Given the description of an element on the screen output the (x, y) to click on. 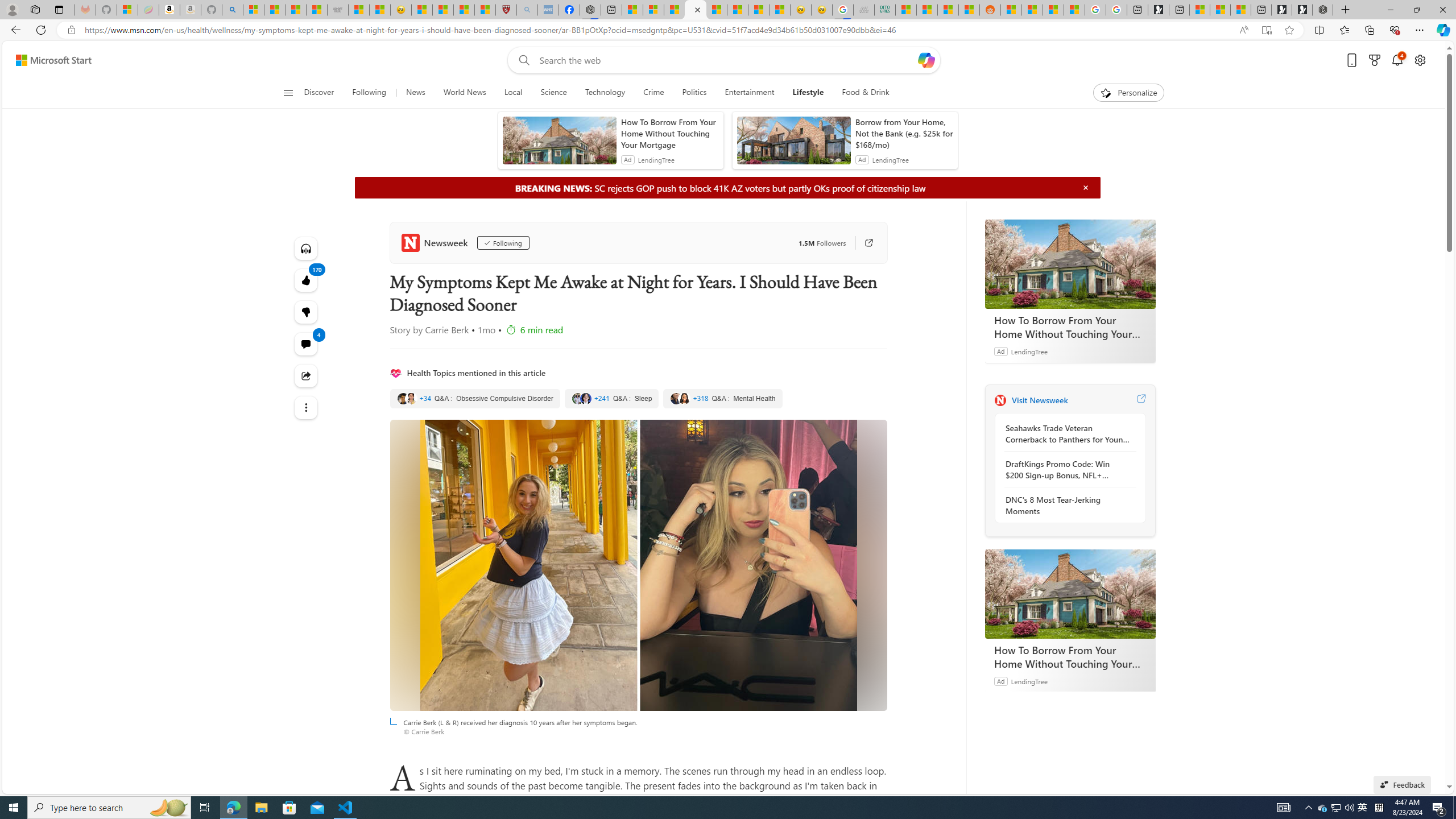
Mental Health (722, 398)
